Given the description of an element on the screen output the (x, y) to click on. 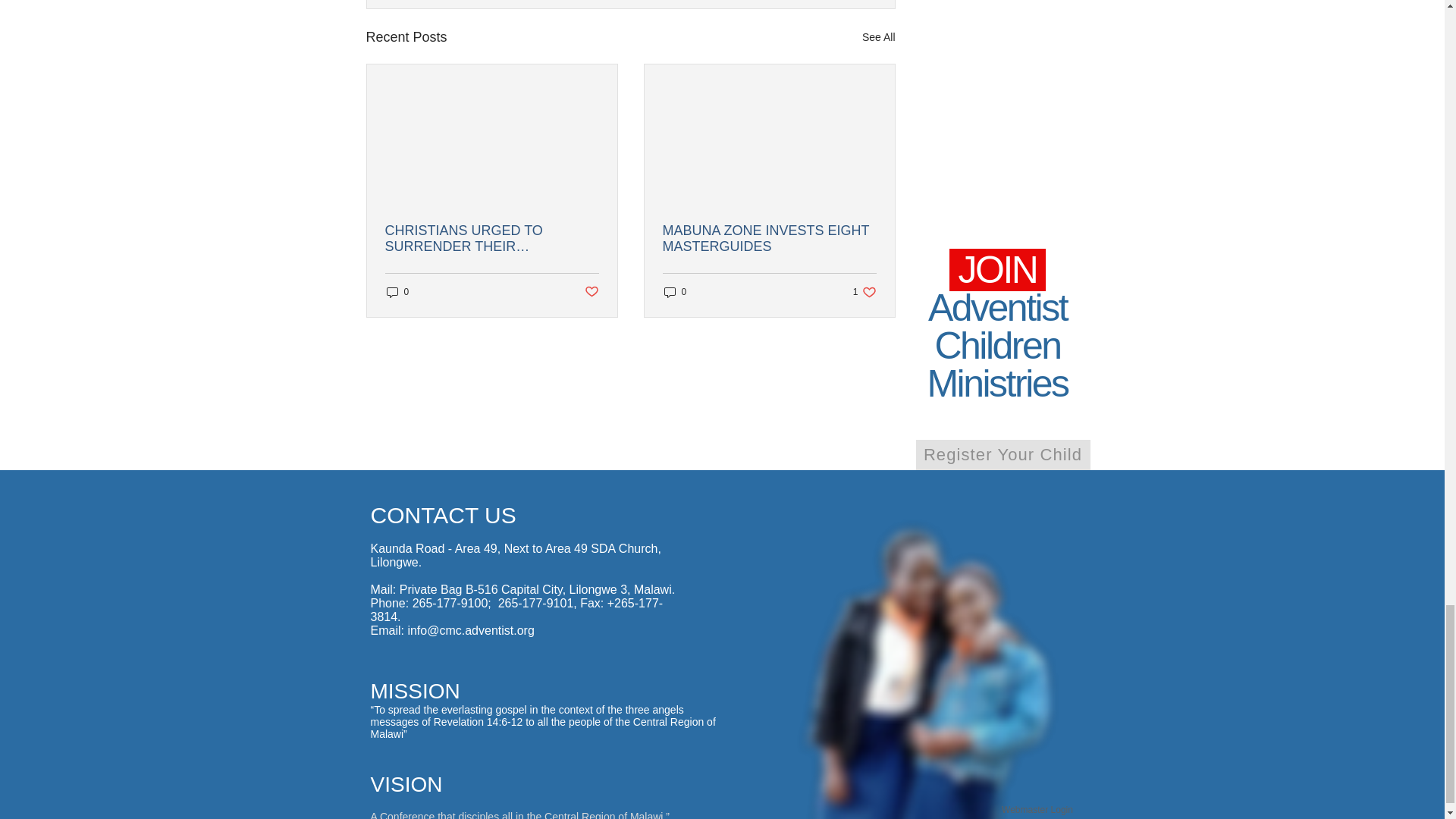
MABUNA ZONE INVESTS EIGHT MASTERGUIDES (769, 238)
Register Your Child (1002, 454)
0 (397, 292)
Post not marked as liked (864, 292)
CHRISTIANS URGED TO SURRENDER THEIR CHALLENGES TO GOD (590, 292)
Webmaster Login (491, 238)
0 (1037, 809)
See All (675, 292)
